Given the description of an element on the screen output the (x, y) to click on. 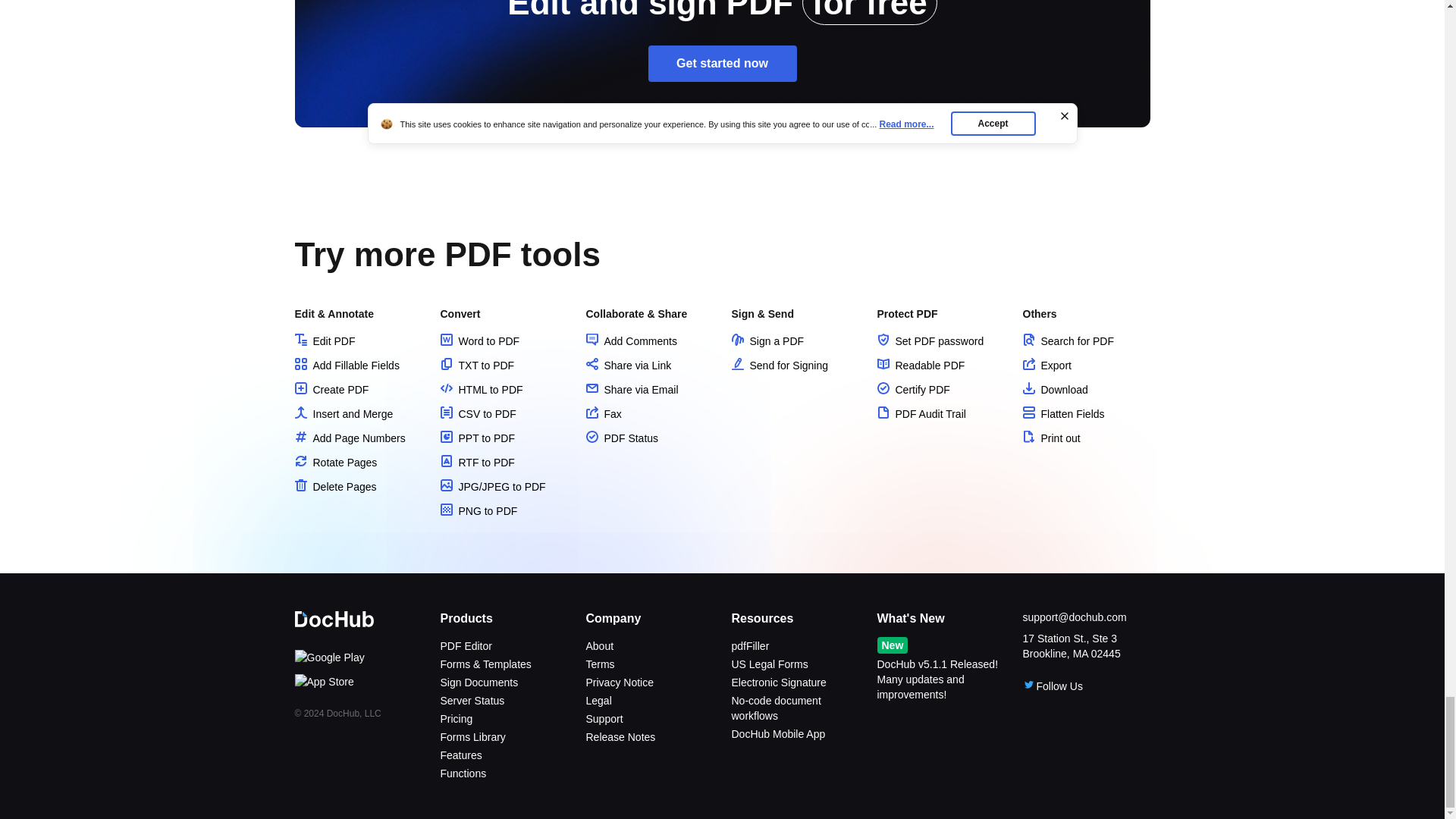
Create PDF (331, 389)
HTML to PDF (480, 389)
Add Fillable Fields (346, 365)
Insert and Merge (343, 413)
TXT to PDF (476, 365)
PPT to PDF (476, 438)
Add Comments (631, 340)
PNG to PDF (477, 510)
Delete Pages (334, 486)
Edit PDF (324, 340)
Share via Email (631, 389)
Word to PDF (479, 340)
CSV to PDF (477, 413)
Share via Link (628, 365)
Rotate Pages (335, 462)
